Given the description of an element on the screen output the (x, y) to click on. 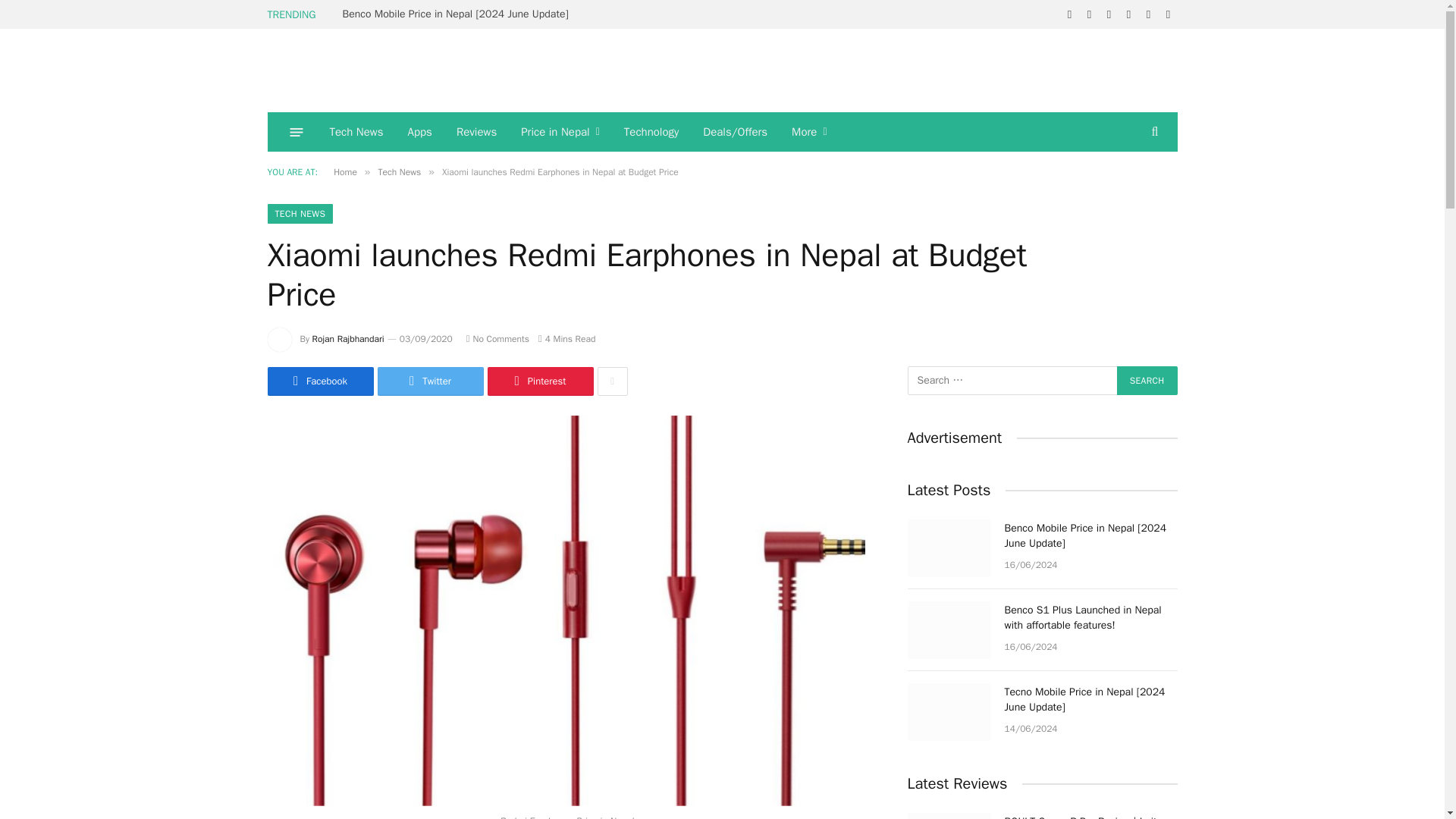
Reviews (476, 131)
Share on Facebook (319, 380)
Apps (420, 131)
Tech News (355, 131)
Search (1146, 380)
Search (1146, 380)
Show More Social Sharing (611, 380)
Posts by Rojan Rajbhandari (348, 338)
Share on Pinterest (539, 380)
